Given the description of an element on the screen output the (x, y) to click on. 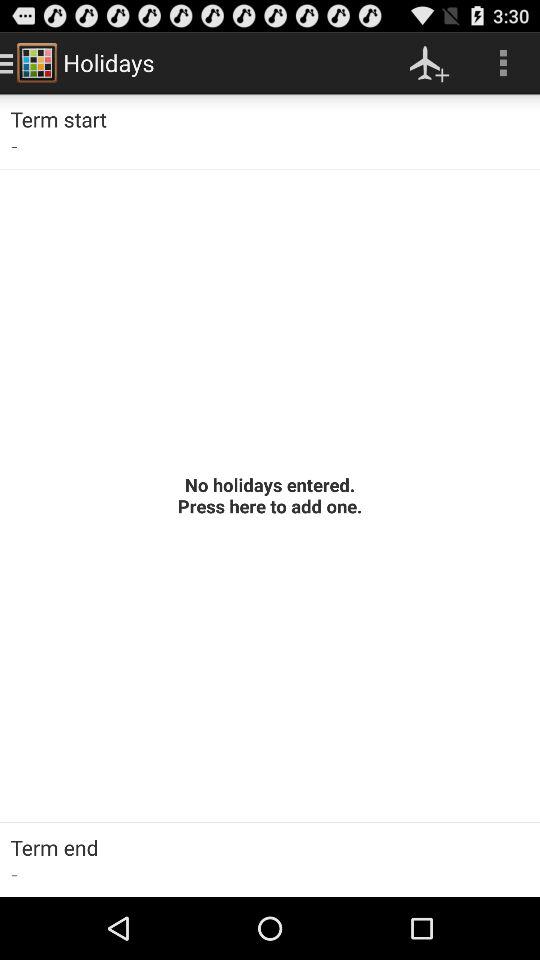
tap the item below - (270, 495)
